Given the description of an element on the screen output the (x, y) to click on. 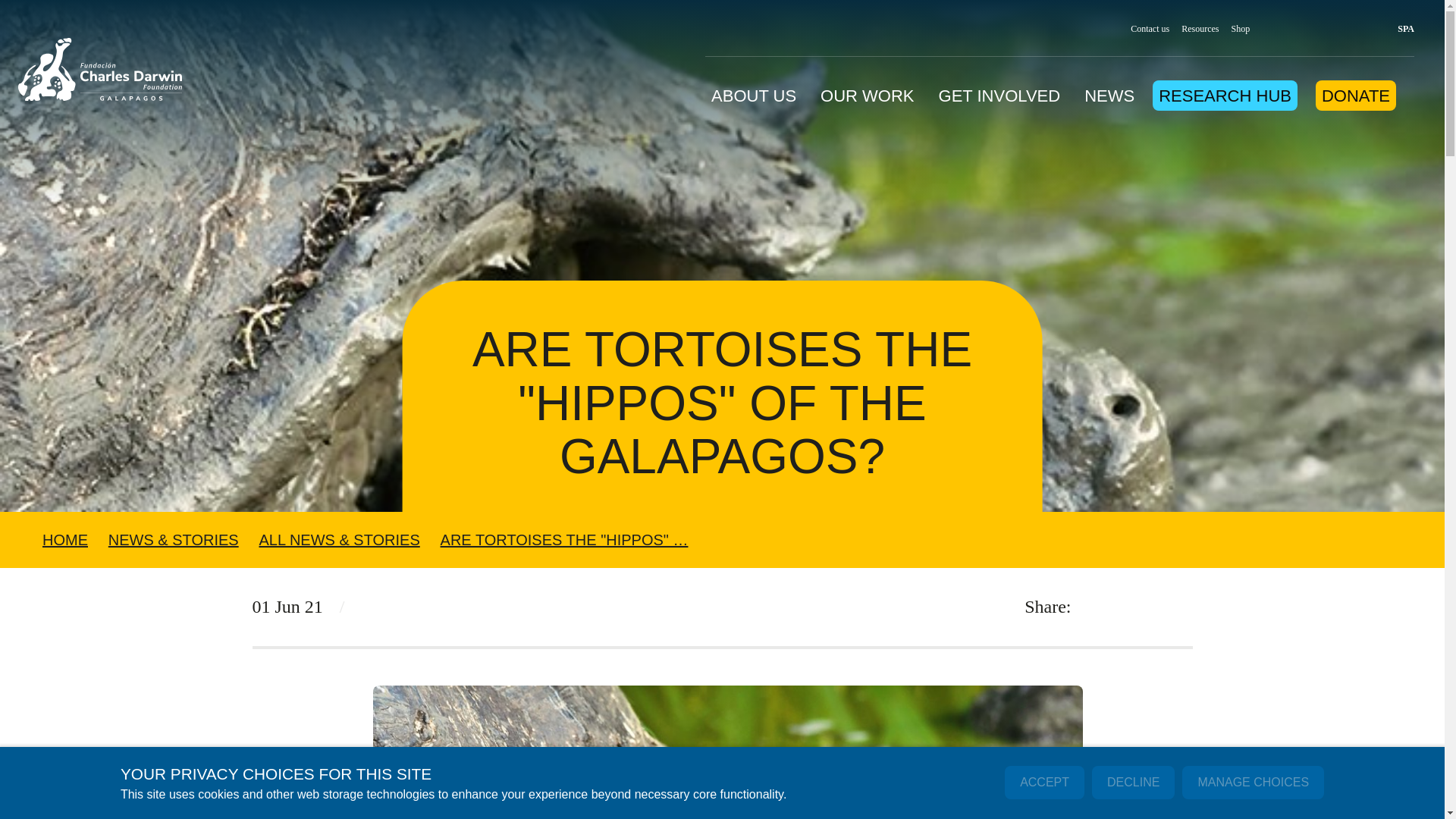
Home (99, 72)
OUR WORK (867, 91)
SPA (1398, 28)
Resources (1199, 29)
Shop (1240, 29)
ABOUT US (753, 91)
Contact us (1150, 29)
Are tortoises the "hippos" of the Galapagos? (564, 539)
